Given the description of an element on the screen output the (x, y) to click on. 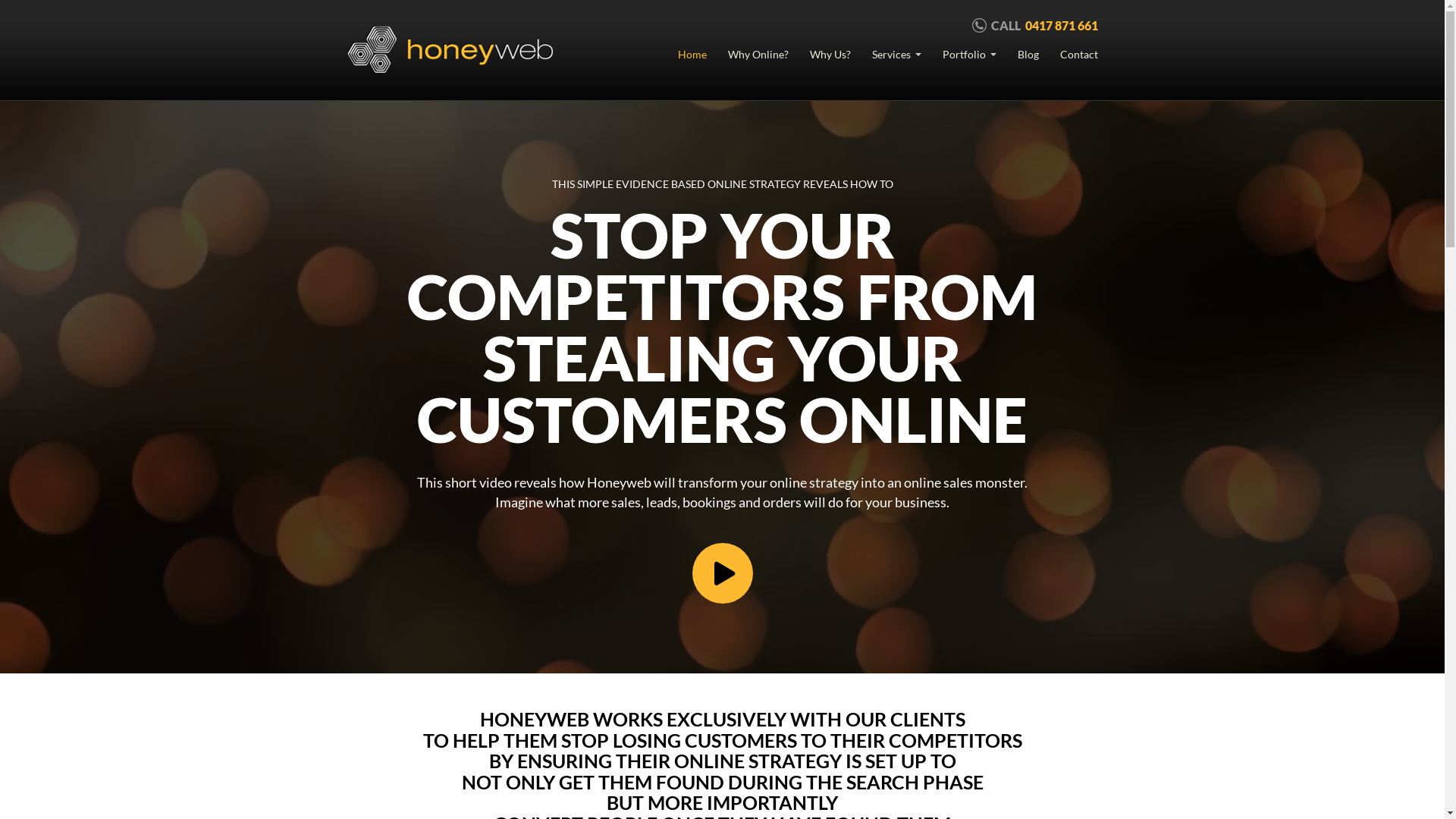
Blog Element type: text (1027, 54)
Portfolio Element type: text (968, 54)
Contact Element type: text (1079, 54)
Why Online? Element type: text (758, 54)
Home Element type: text (691, 54)
Why Us? Element type: text (829, 54)
Services Element type: text (896, 54)
CALL  0417 871 661 Element type: text (1035, 25)
